Given the description of an element on the screen output the (x, y) to click on. 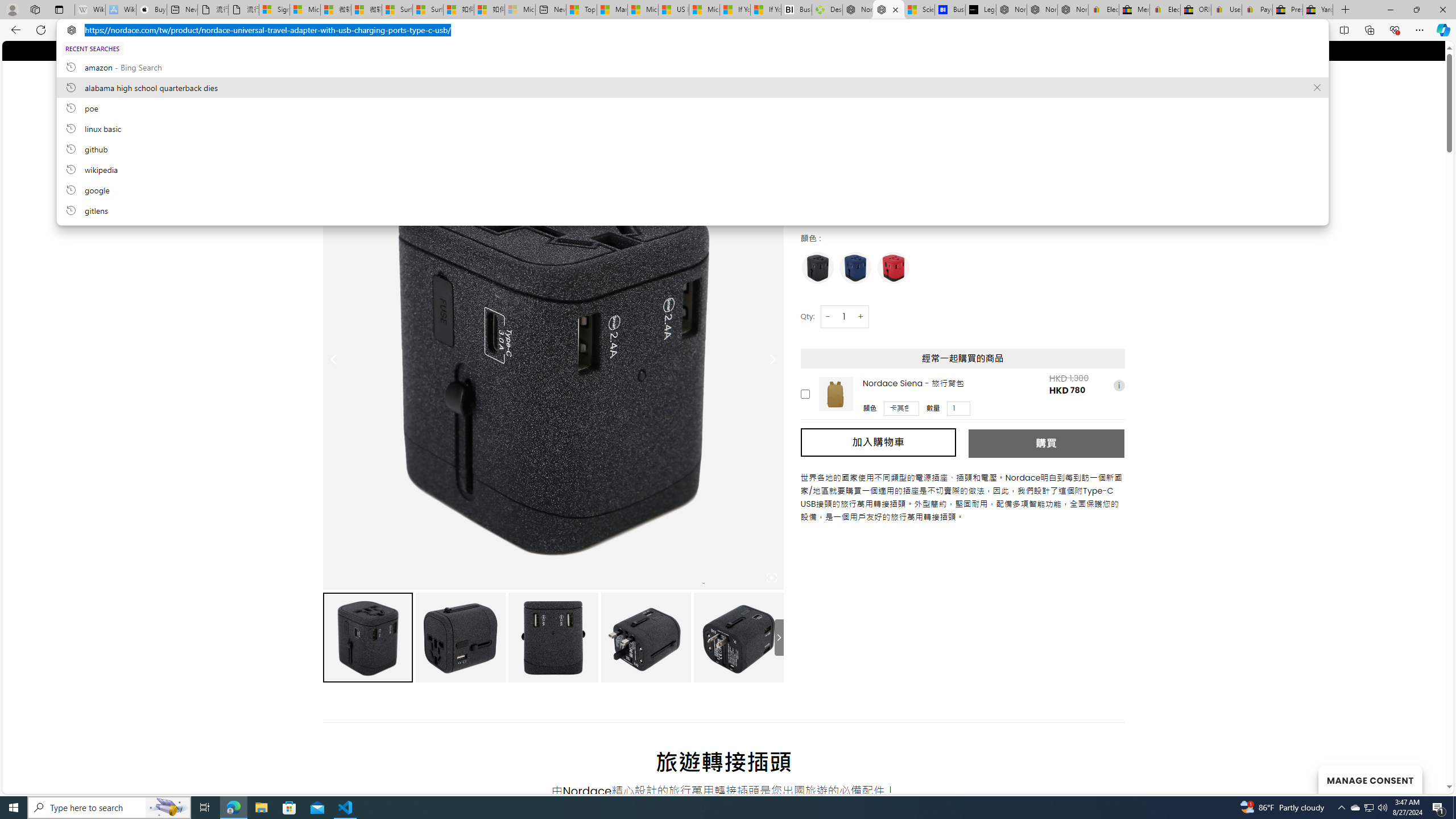
Remove suggestion (1316, 87)
google, recent searches from history (691, 189)
  0   (1115, 83)
github, recent searches from history (691, 148)
- (827, 316)
wikipedia, recent searches from history (691, 168)
